Given the description of an element on the screen output the (x, y) to click on. 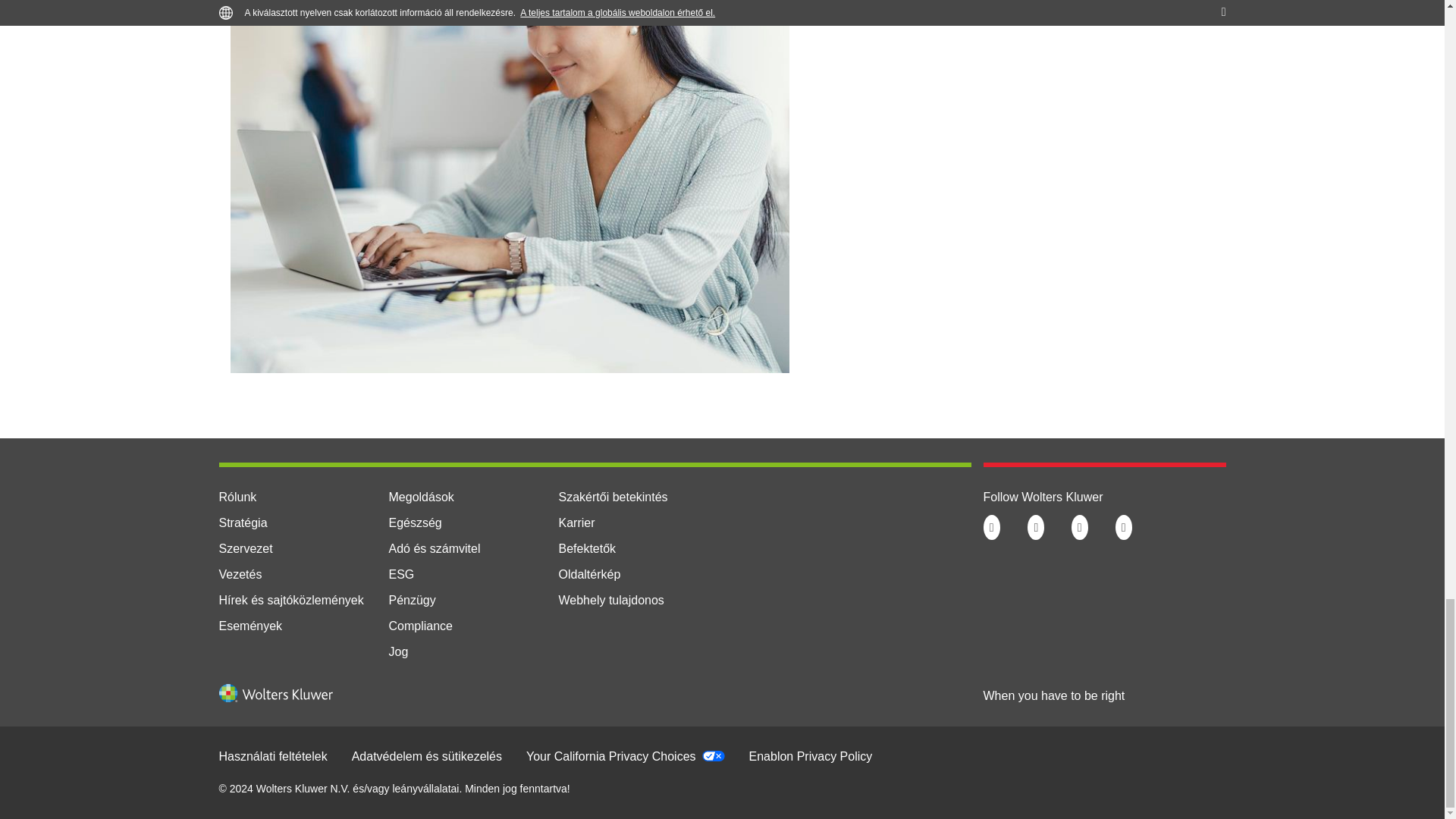
Wolters Kluwer Logo (274, 698)
WK Logo (274, 692)
ESG (400, 574)
Webhely tulajdonos (610, 599)
